Given the description of an element on the screen output the (x, y) to click on. 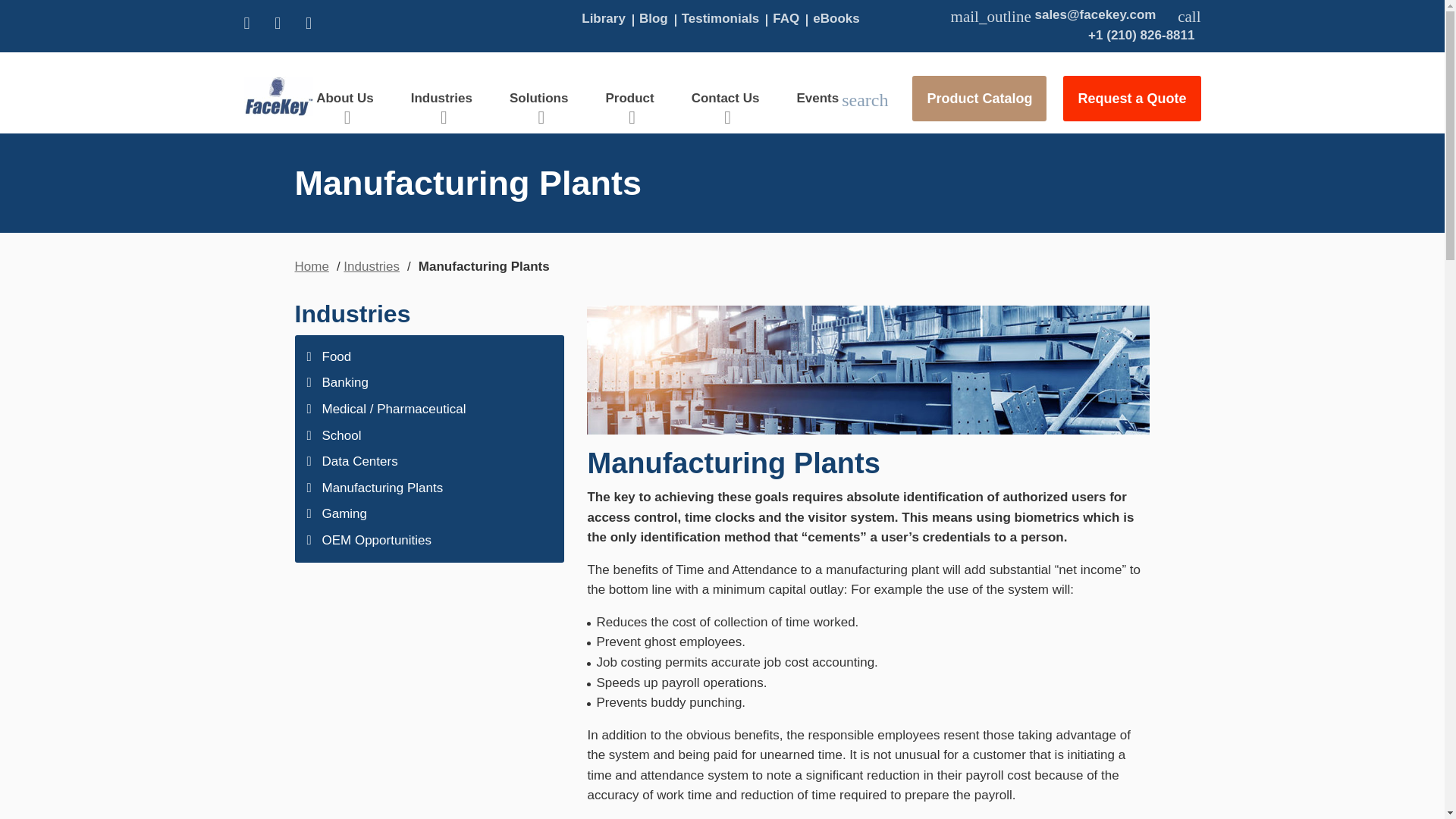
Blog (655, 19)
Testimonials (722, 19)
Library (604, 19)
FAQ (787, 19)
Blog (655, 19)
About Us (345, 107)
FAQ (787, 19)
eBooks (837, 19)
Testimonials (722, 19)
Email Us (1053, 16)
